Given the description of an element on the screen output the (x, y) to click on. 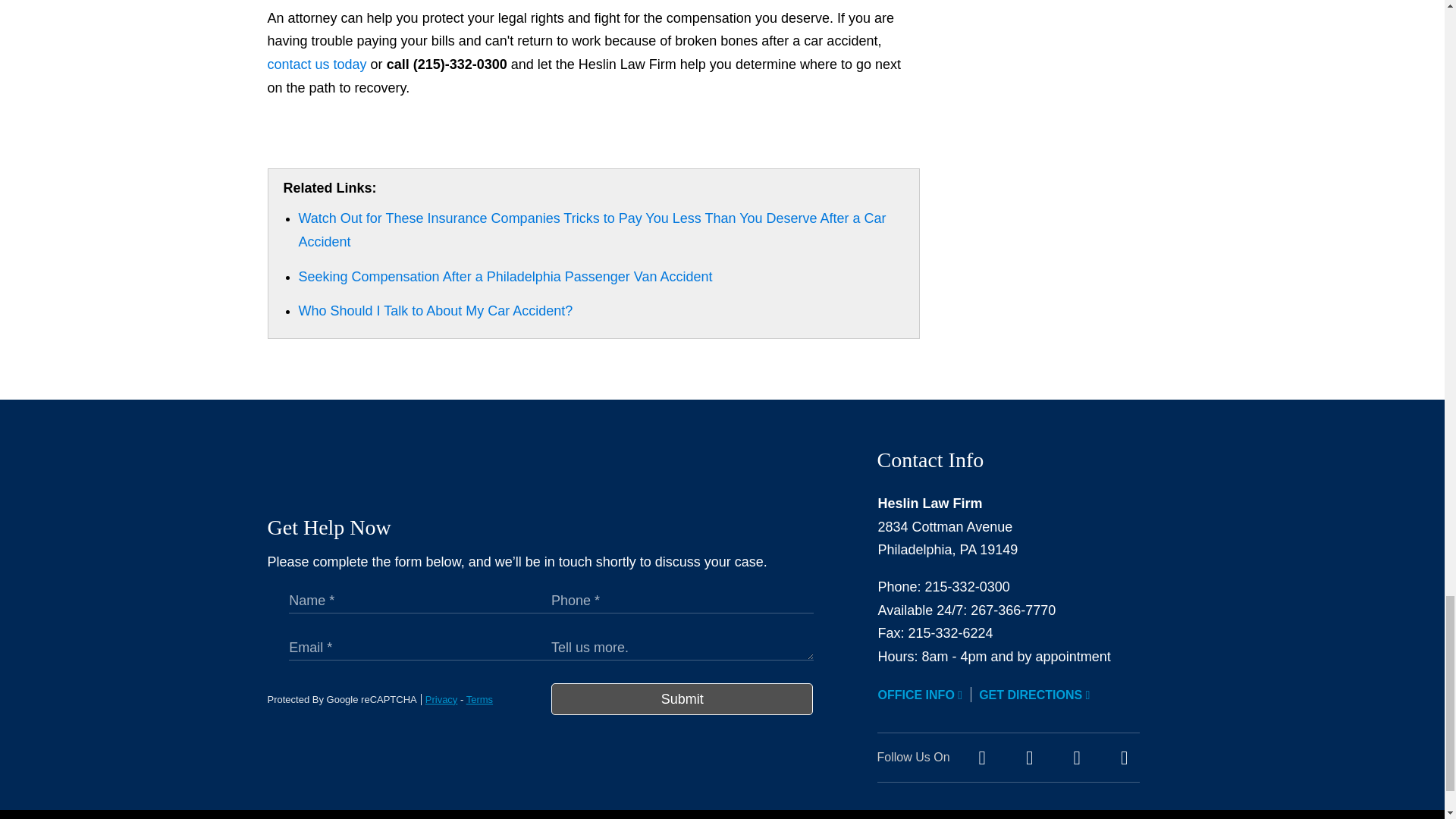
Facebook (981, 757)
YouTube (1076, 757)
RSS Feed (1123, 757)
Twitter (1029, 757)
